Given the description of an element on the screen output the (x, y) to click on. 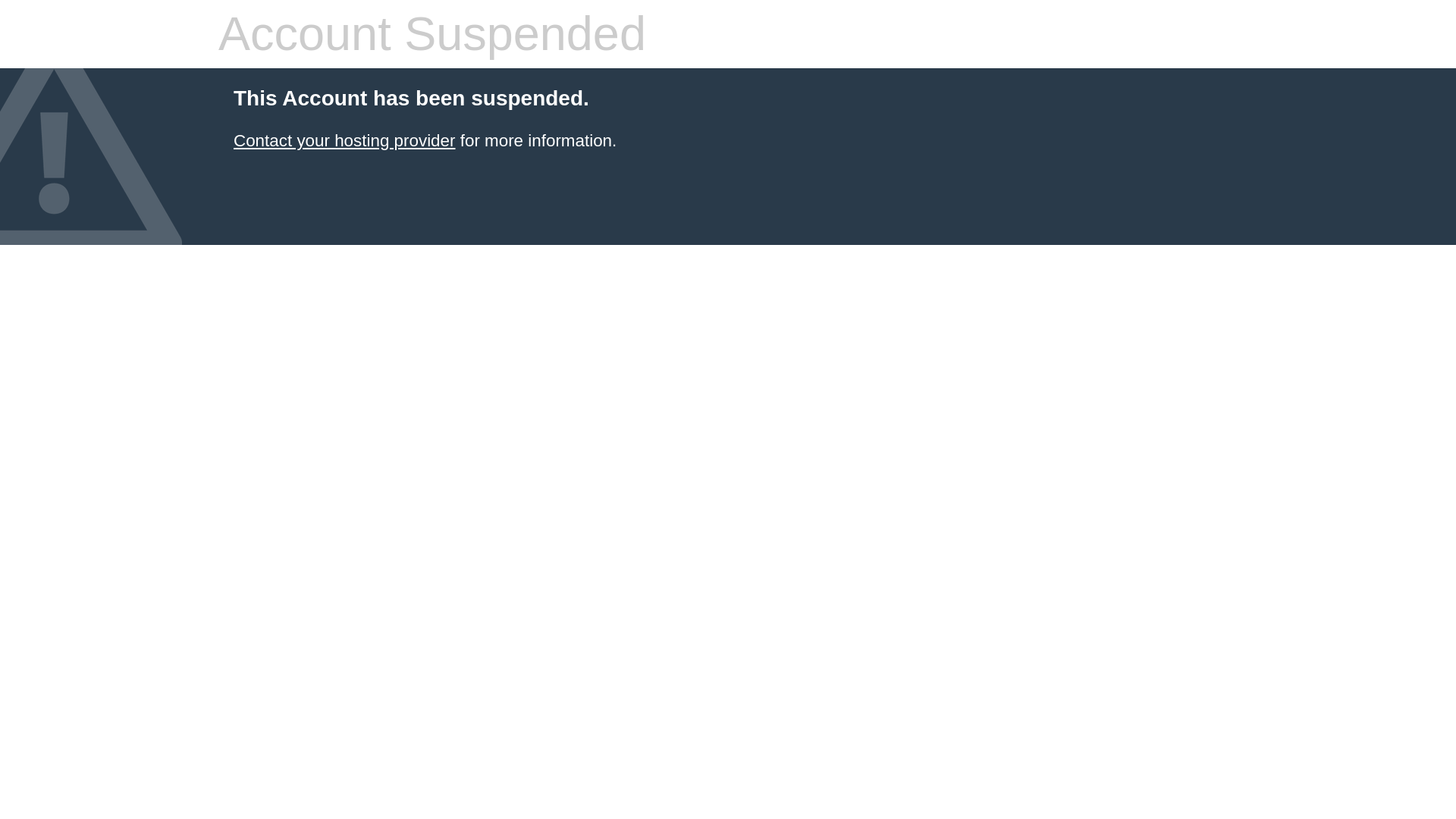
Contact your hosting provider (343, 140)
